Given the description of an element on the screen output the (x, y) to click on. 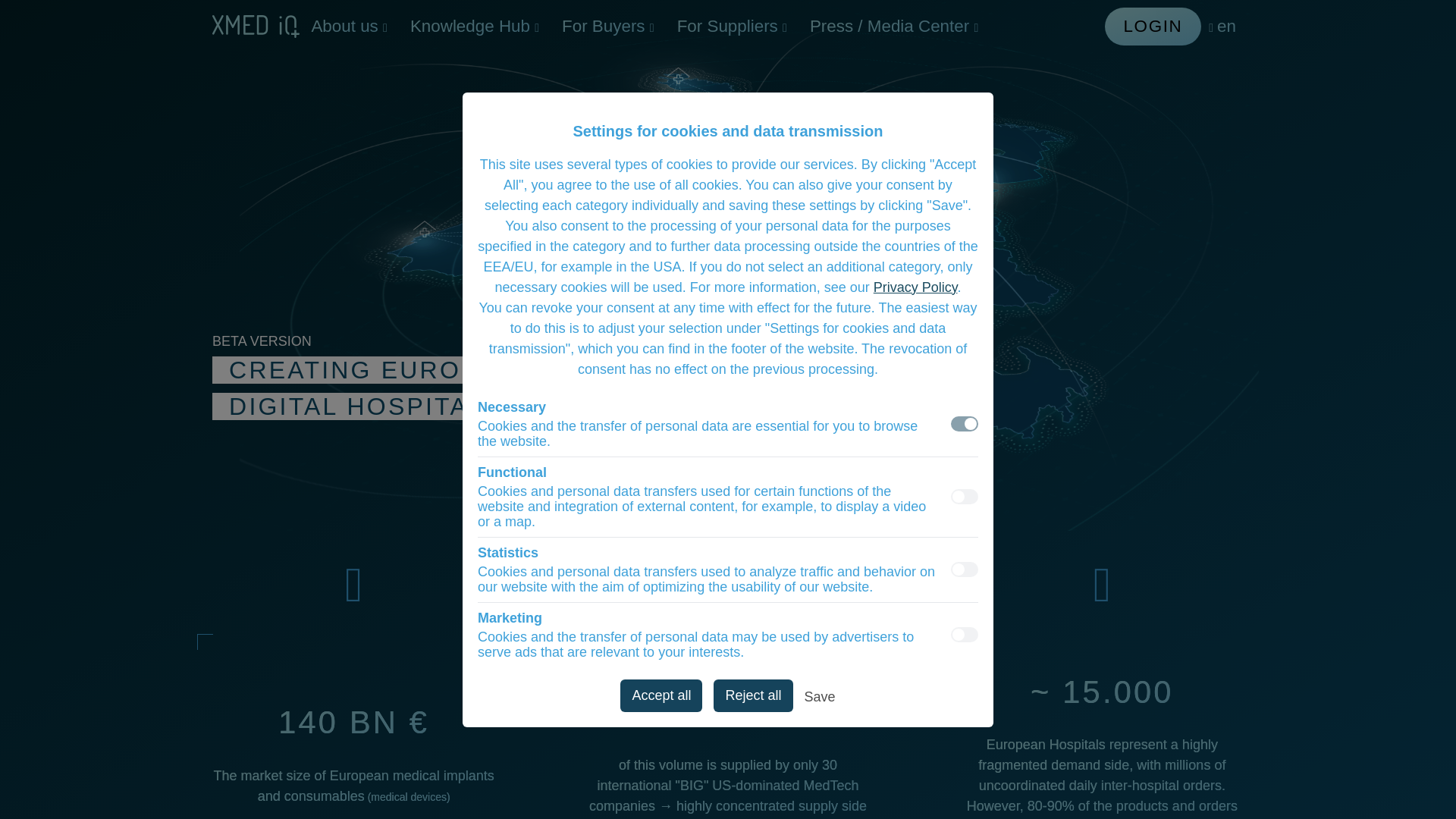
For Suppliers (731, 26)
Knowledge Hub (474, 26)
Privacy Policy (915, 286)
on (964, 496)
Save (820, 699)
on (964, 569)
For Buyers (607, 26)
on (964, 634)
Reject all (752, 695)
LOGIN (1153, 26)
